Given the description of an element on the screen output the (x, y) to click on. 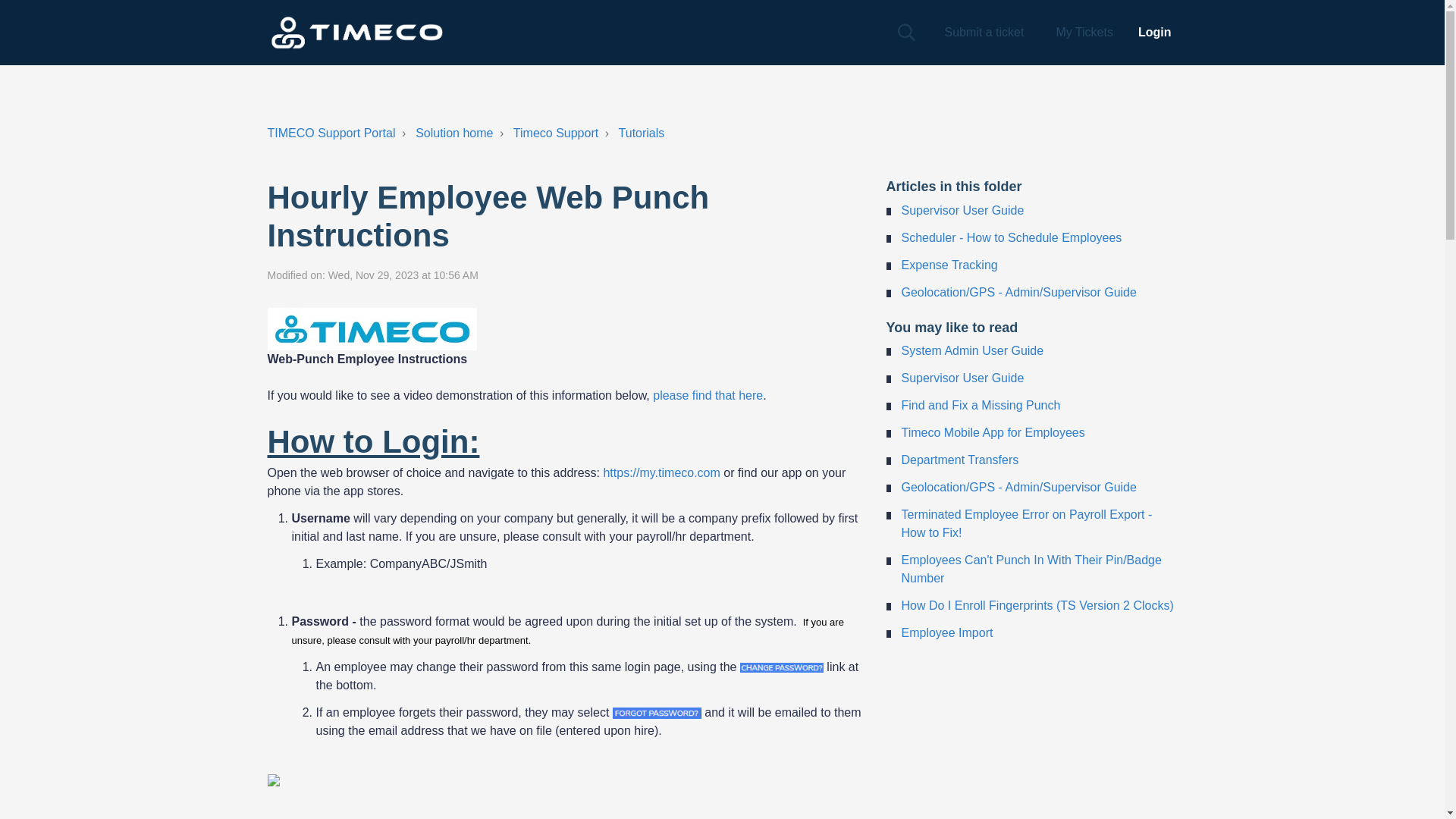
Solution home (453, 132)
please find that here (707, 395)
Terminated Employee Error on Payroll Export - How to Fix! (1026, 522)
Tutorials (641, 132)
Timeco Support (555, 132)
Find and Fix a Missing Punch (980, 404)
TIMECO Support Portal (330, 132)
My Tickets (1083, 32)
Login (1153, 32)
Expense Tracking (949, 264)
